Given the description of an element on the screen output the (x, y) to click on. 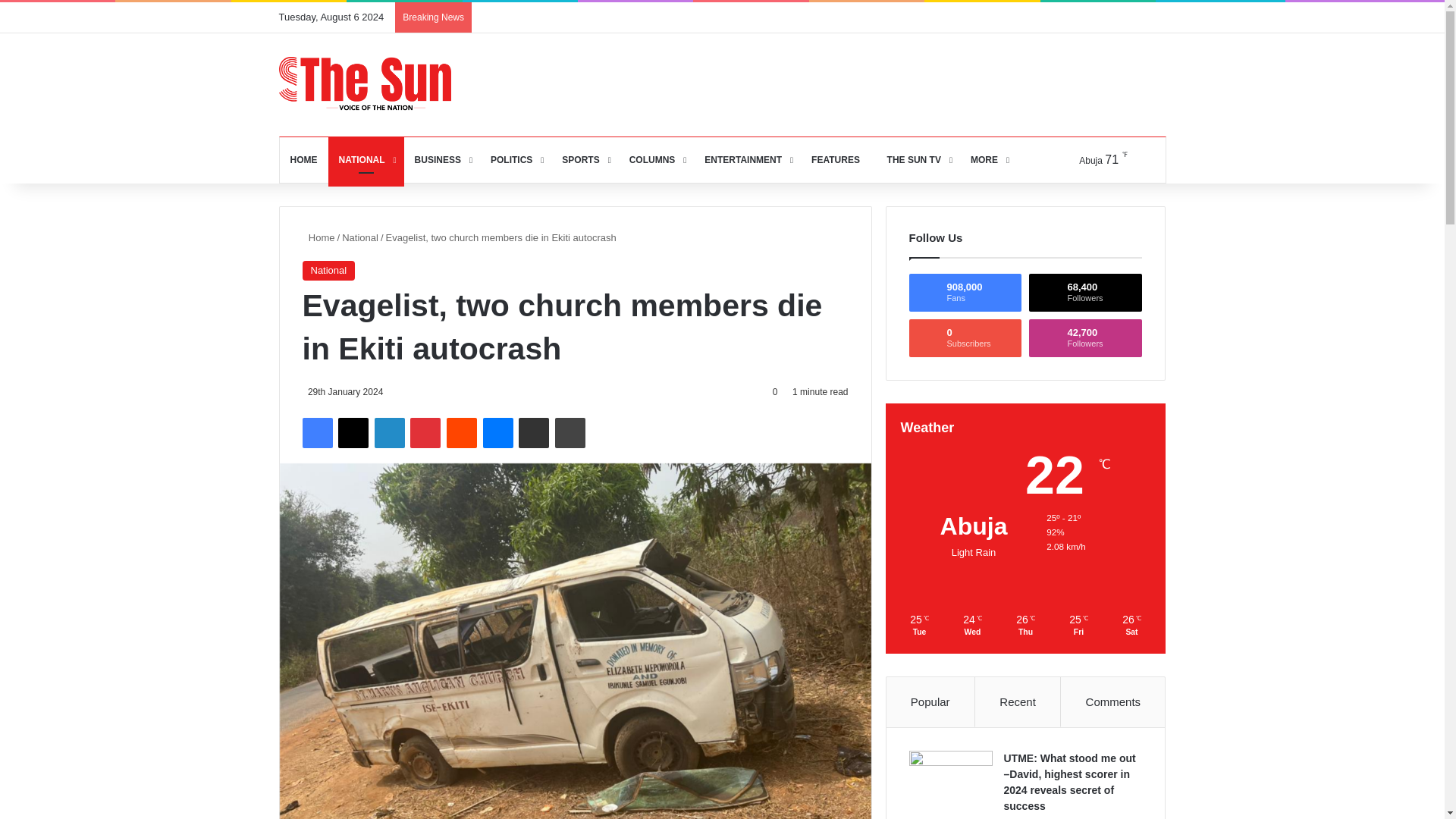
THE SUN TV (914, 159)
BUSINESS (442, 159)
Light Rain (1088, 158)
HOME (303, 159)
Print (569, 432)
ENTERTAINMENT (747, 159)
The Sun Nigeria (365, 84)
FEATURES (835, 159)
Facebook (316, 432)
MORE (987, 159)
Pinterest (425, 432)
COLUMNS (656, 159)
SPORTS (584, 159)
Reddit (461, 432)
NATIONAL (365, 159)
